Given the description of an element on the screen output the (x, y) to click on. 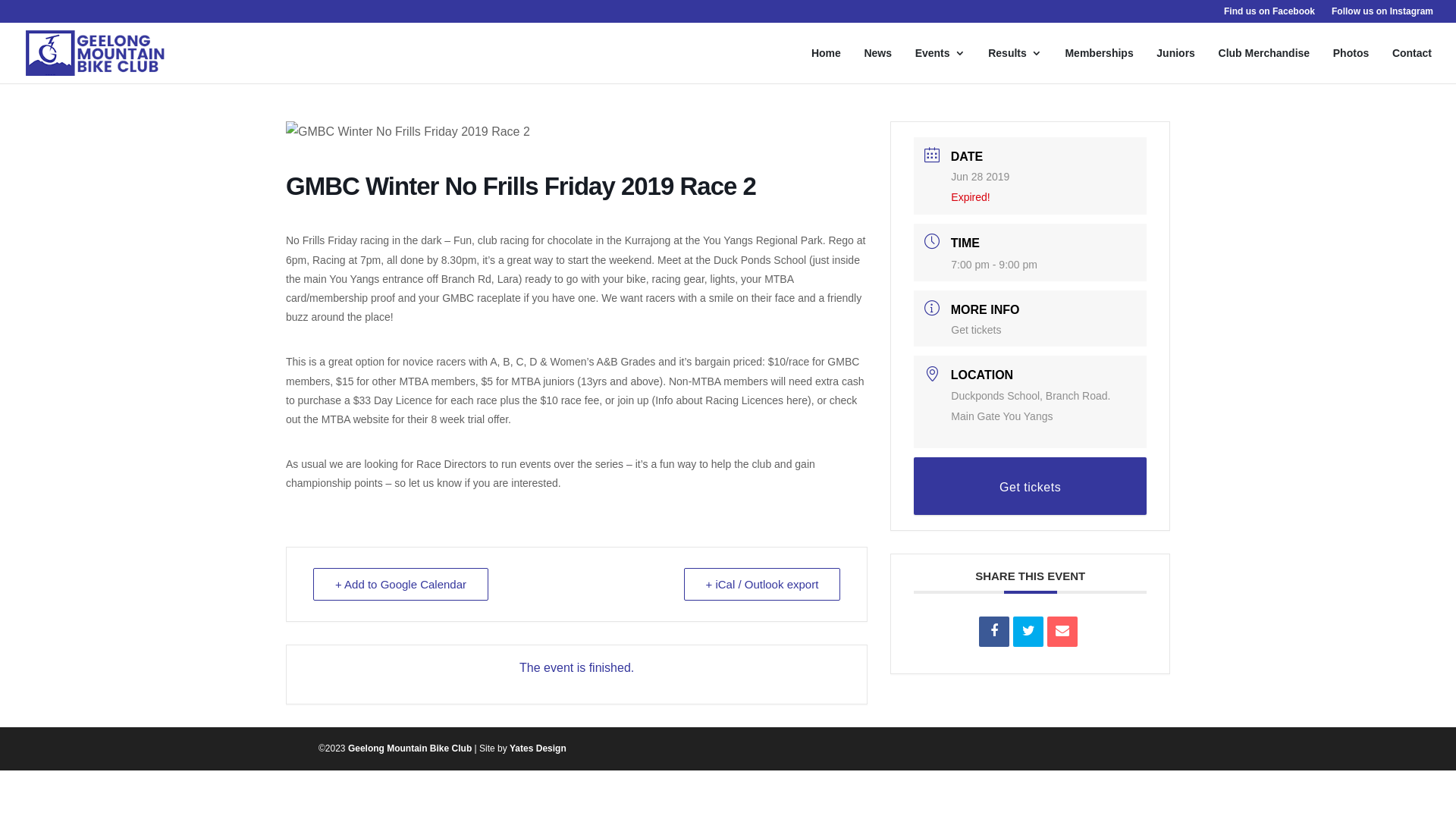
Geelong Mountain Bike Club Element type: text (409, 748)
Get tickets Element type: text (1029, 485)
Yates Design Element type: text (537, 748)
Juniors Element type: text (1174, 65)
Photos Element type: text (1349, 65)
News Element type: text (875, 65)
Share on Facebook Element type: hover (994, 631)
Club Merchandise Element type: text (1261, 65)
Results Element type: text (1013, 65)
Home Element type: text (824, 65)
Get tickets Element type: text (975, 329)
+ iCal / Outlook export Element type: text (762, 583)
Memberships Element type: text (1096, 65)
Follow us on Instagram Element type: text (1380, 14)
+ Add to Google Calendar Element type: text (400, 583)
Tweet Element type: hover (1028, 631)
Events Element type: text (937, 65)
Contact Element type: text (1410, 65)
Email Element type: hover (1062, 631)
GMBC Winter No Frills Friday 2019 Race 2 Element type: hover (407, 131)
Find us on Facebook Element type: text (1267, 14)
